Given the description of an element on the screen output the (x, y) to click on. 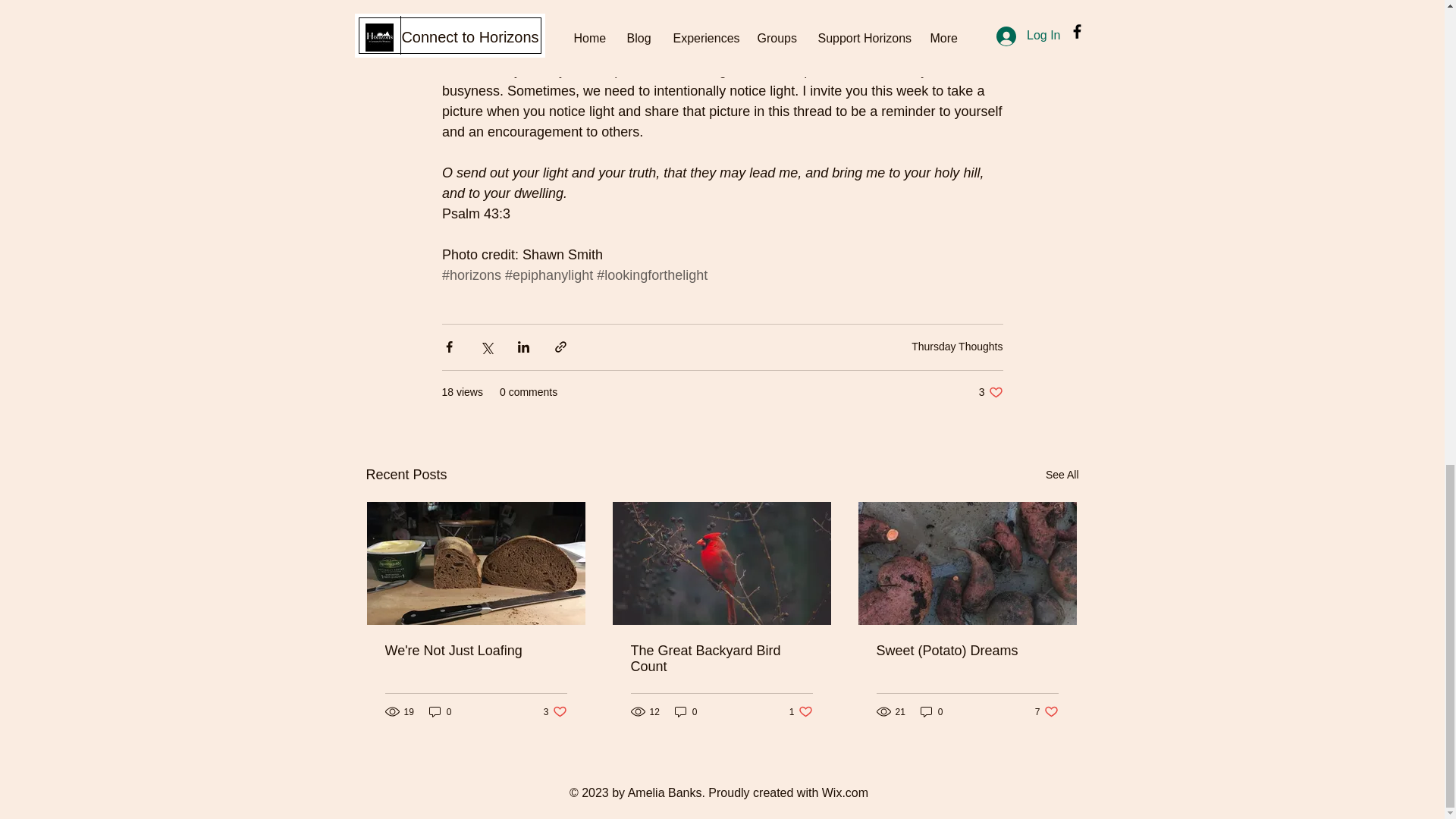
Thursday Thoughts (957, 346)
See All (990, 391)
